Given the description of an element on the screen output the (x, y) to click on. 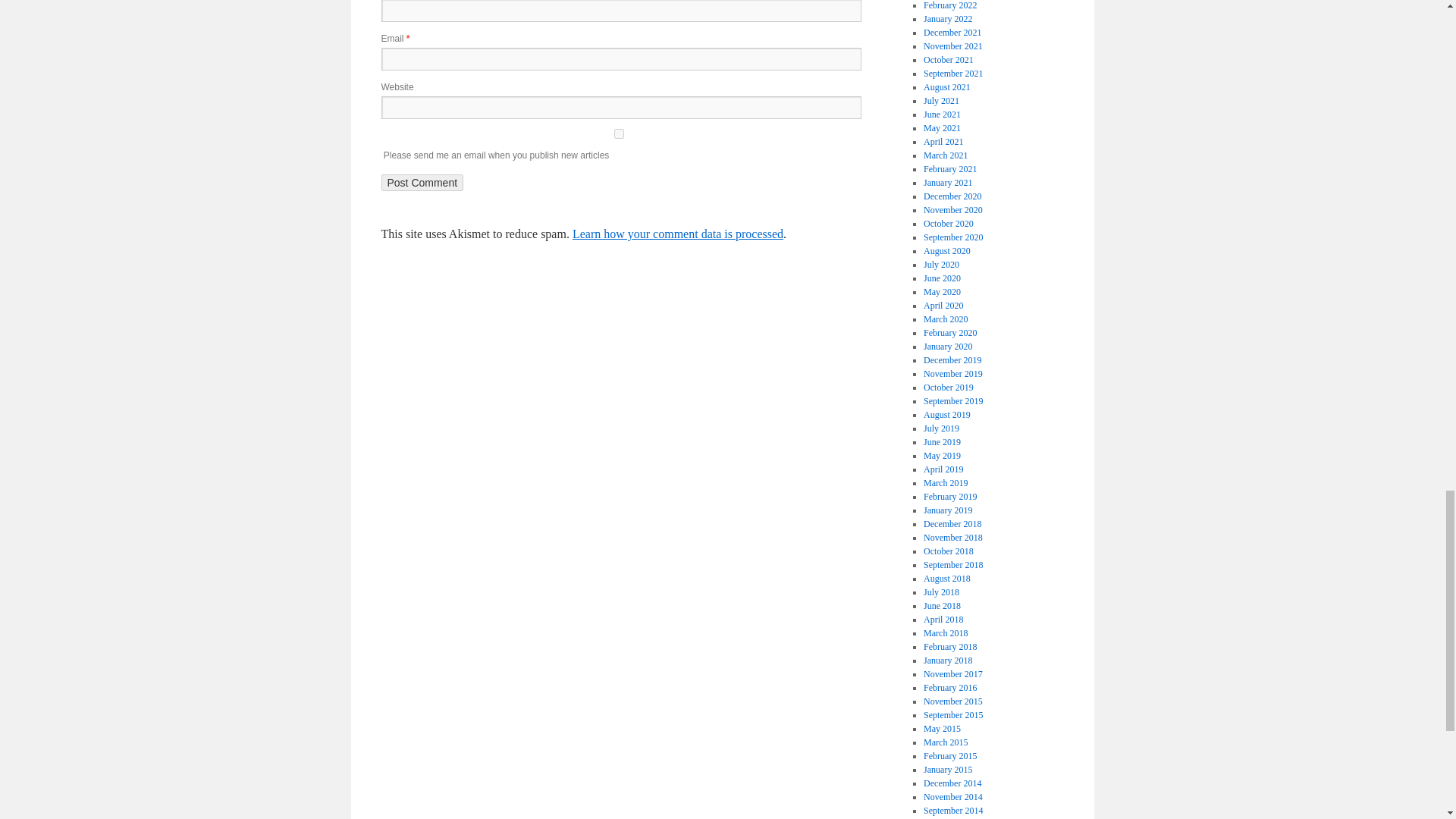
1 (618, 133)
Learn how your comment data is processed (677, 233)
Post Comment (421, 182)
Post Comment (421, 182)
